Given the description of an element on the screen output the (x, y) to click on. 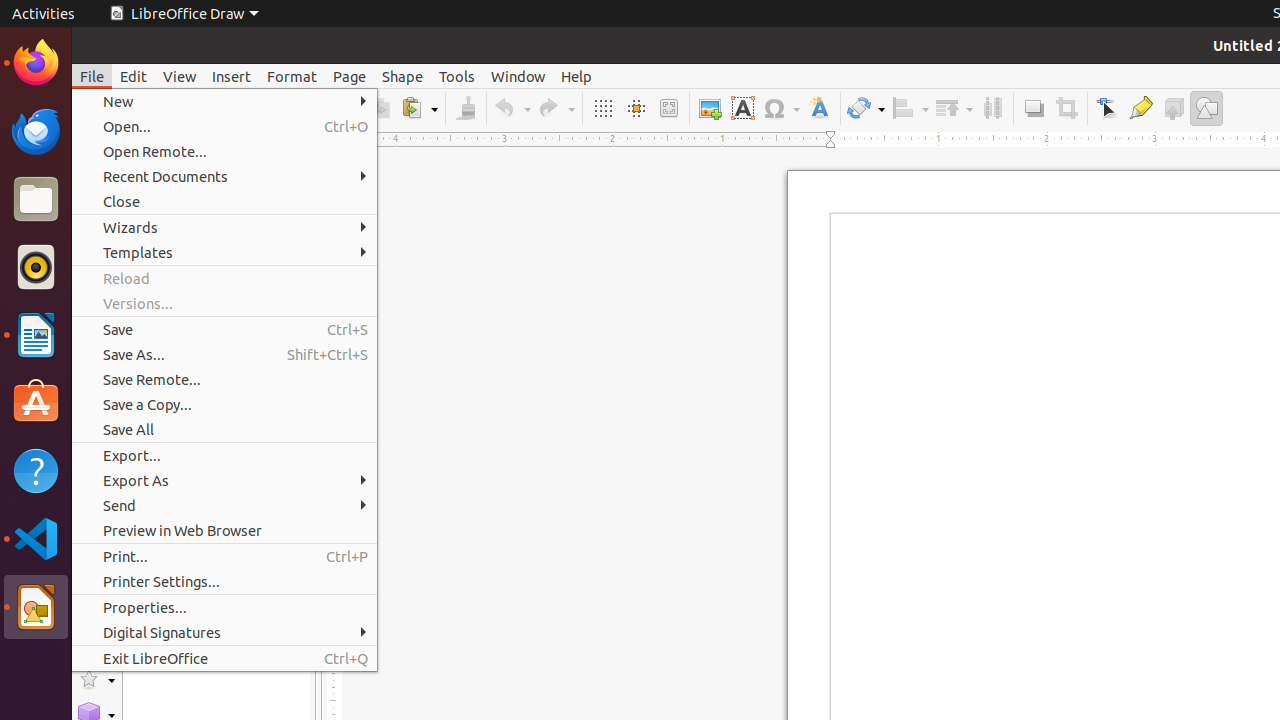
Grid Element type: toggle-button (602, 108)
Help Element type: menu (576, 76)
Tools Element type: menu (457, 76)
File Element type: menu (92, 76)
Edit Element type: menu (133, 76)
